Given the description of an element on the screen output the (x, y) to click on. 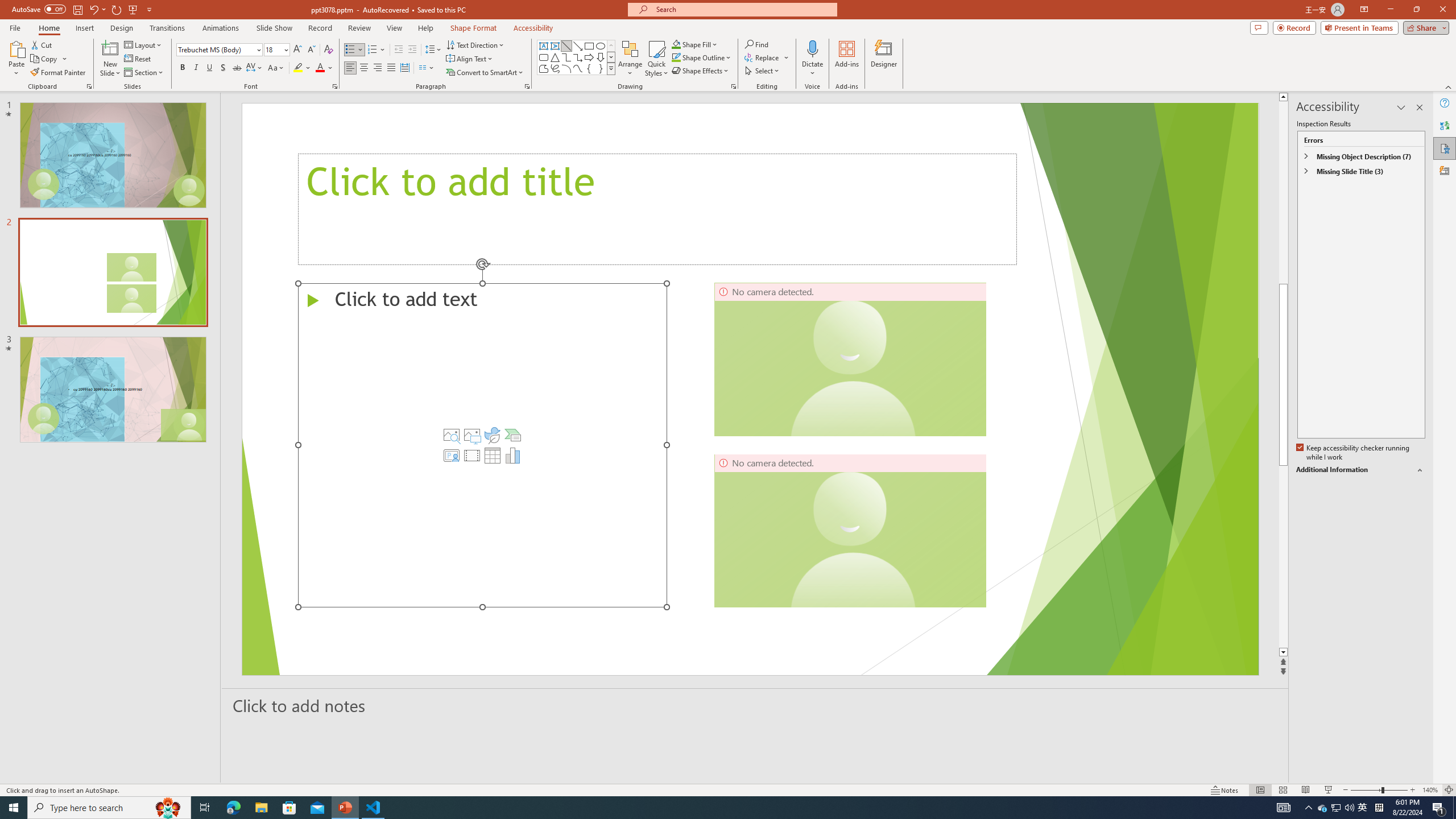
Connector: Elbow (566, 57)
Find... (756, 44)
